Given the description of an element on the screen output the (x, y) to click on. 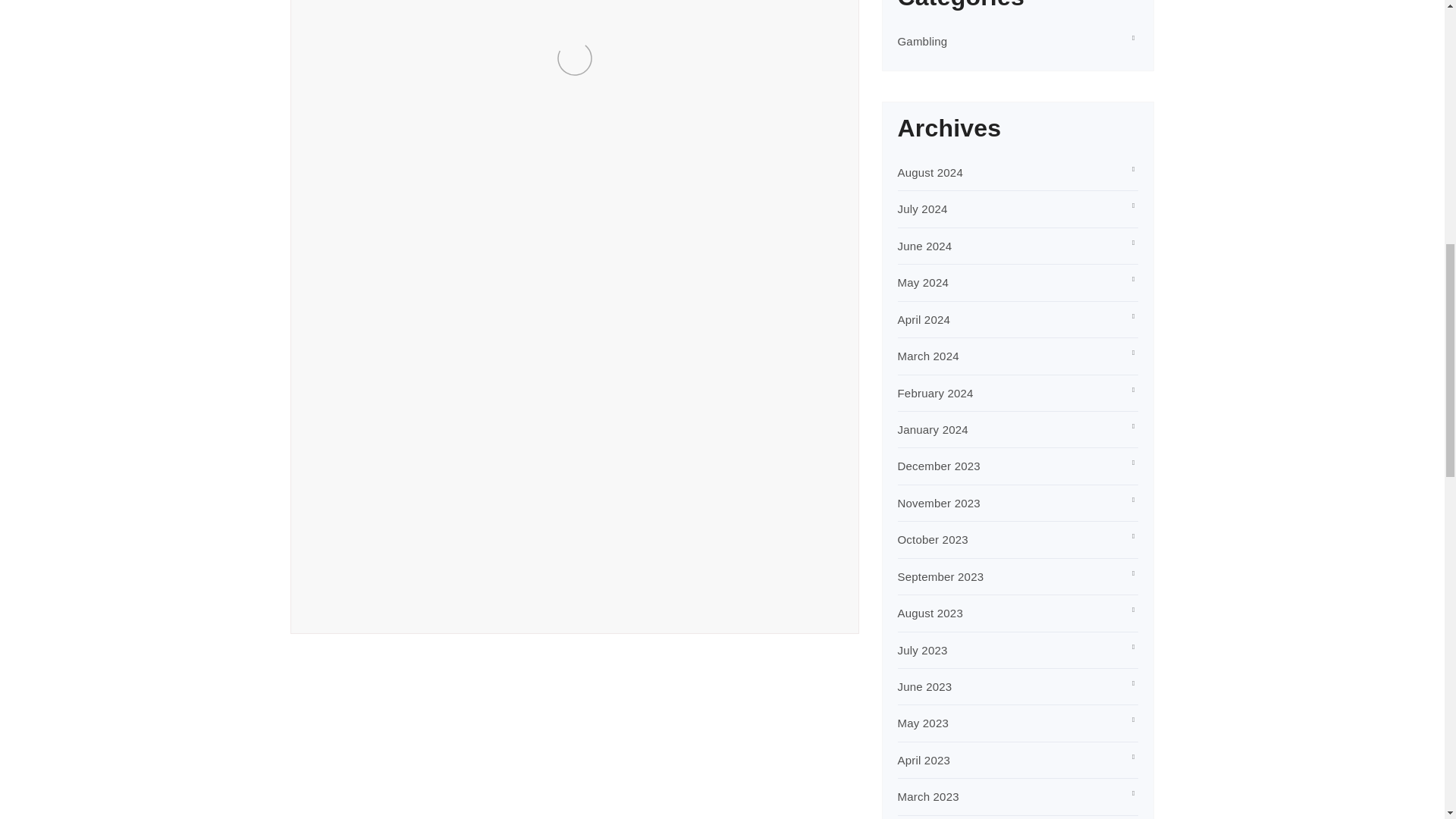
October 2023 (933, 539)
August 2023 (930, 612)
November 2023 (938, 502)
January 2024 (933, 429)
April 2024 (924, 318)
August 2024 (930, 172)
September 2023 (941, 576)
December 2023 (938, 465)
May 2024 (923, 282)
March 2024 (928, 355)
